Given the description of an element on the screen output the (x, y) to click on. 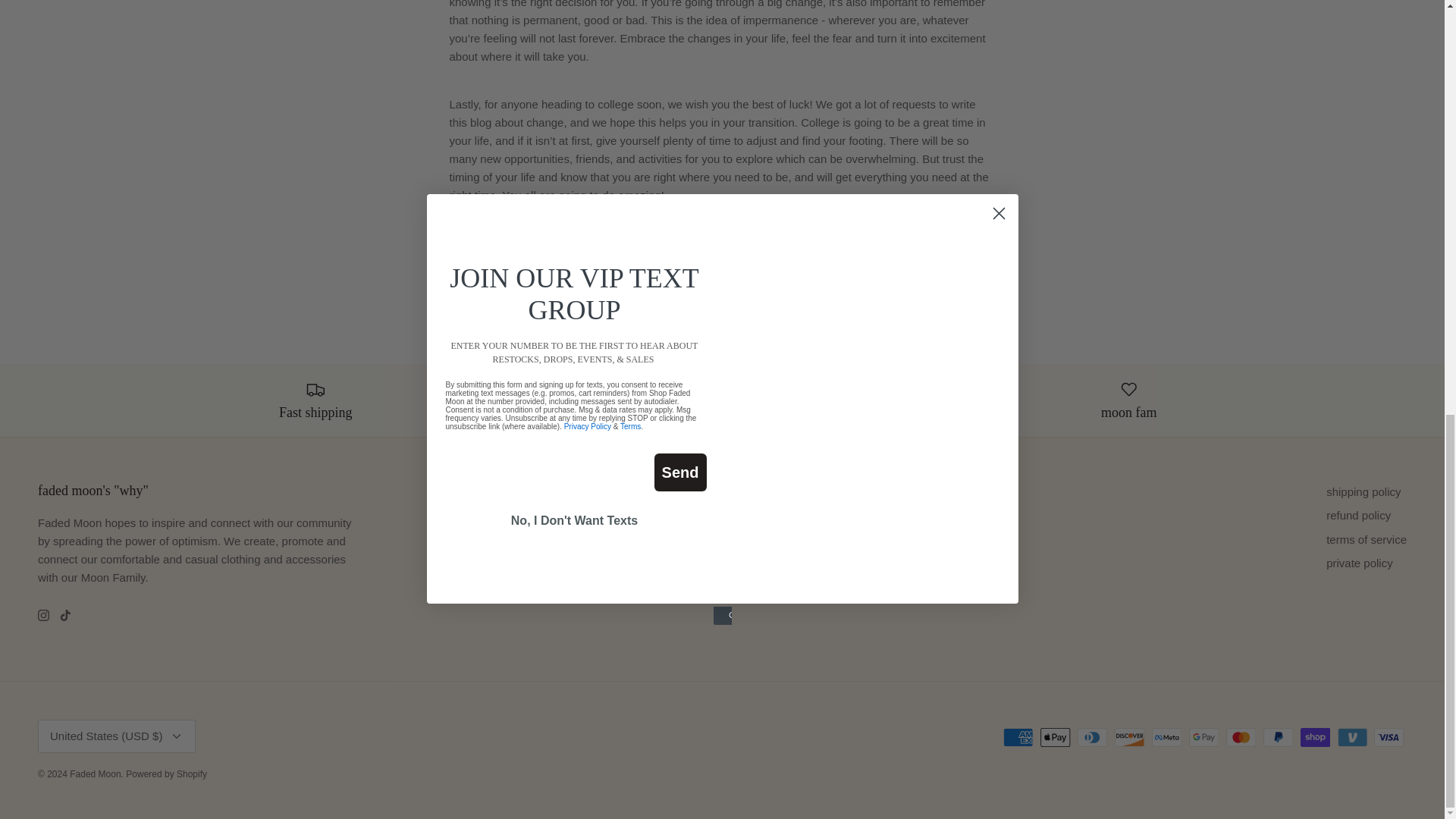
Mastercard (1240, 737)
American Express (1018, 737)
Discover (1129, 737)
PayPal (1277, 737)
Diners Club (1092, 737)
Apple Pay (1055, 737)
Google Pay (1203, 737)
Meta Pay (1166, 737)
Instagram (43, 614)
